Given the description of an element on the screen output the (x, y) to click on. 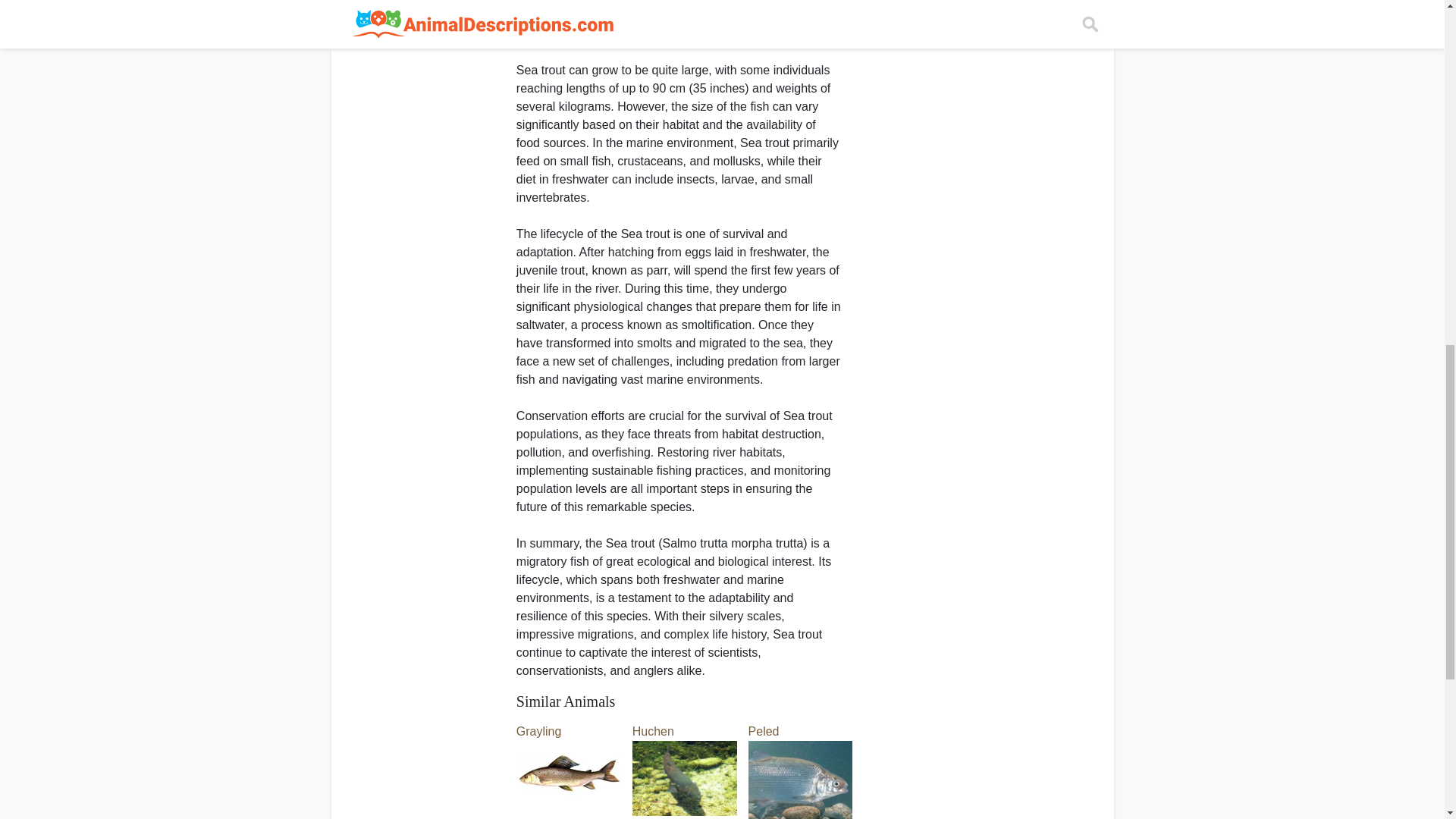
Huchen (683, 752)
Peled (800, 754)
Grayling (568, 752)
